Given the description of an element on the screen output the (x, y) to click on. 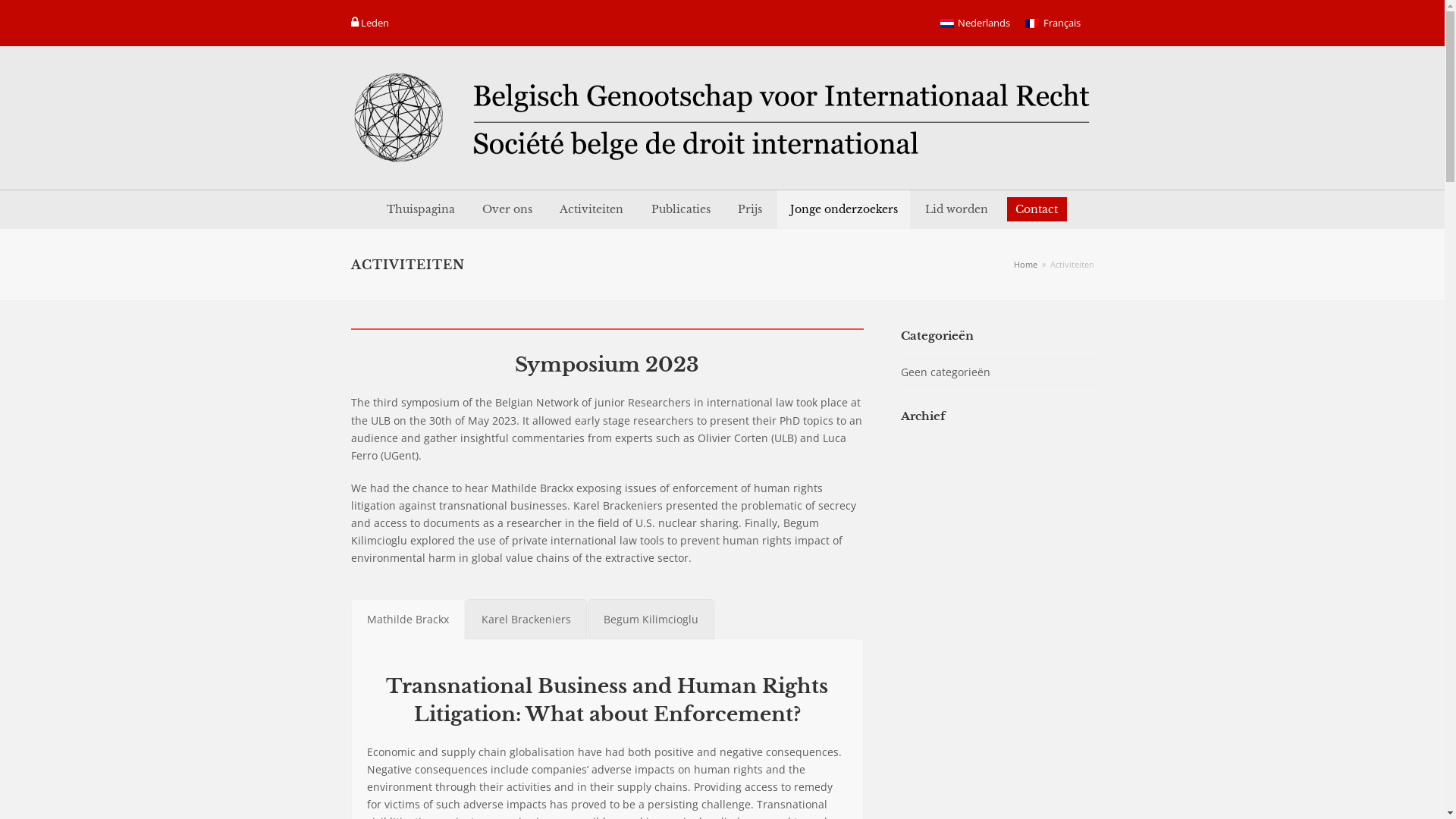
Karel Brackeniers Element type: text (525, 619)
Thuispagina Element type: text (420, 209)
Lid worden Element type: text (956, 209)
Publicaties Element type: text (680, 209)
Contact Element type: text (1036, 209)
Leden  Element type: text (373, 22)
Home Element type: text (1024, 263)
Over ons Element type: text (507, 209)
Activiteiten Element type: text (591, 209)
Jonge onderzoekers Element type: text (843, 209)
Begum Kilimcioglu Element type: text (649, 619)
Prijs Element type: text (749, 209)
Nederlands Element type: text (974, 22)
Mathilde Brackx Element type: text (407, 619)
